Given the description of an element on the screen output the (x, y) to click on. 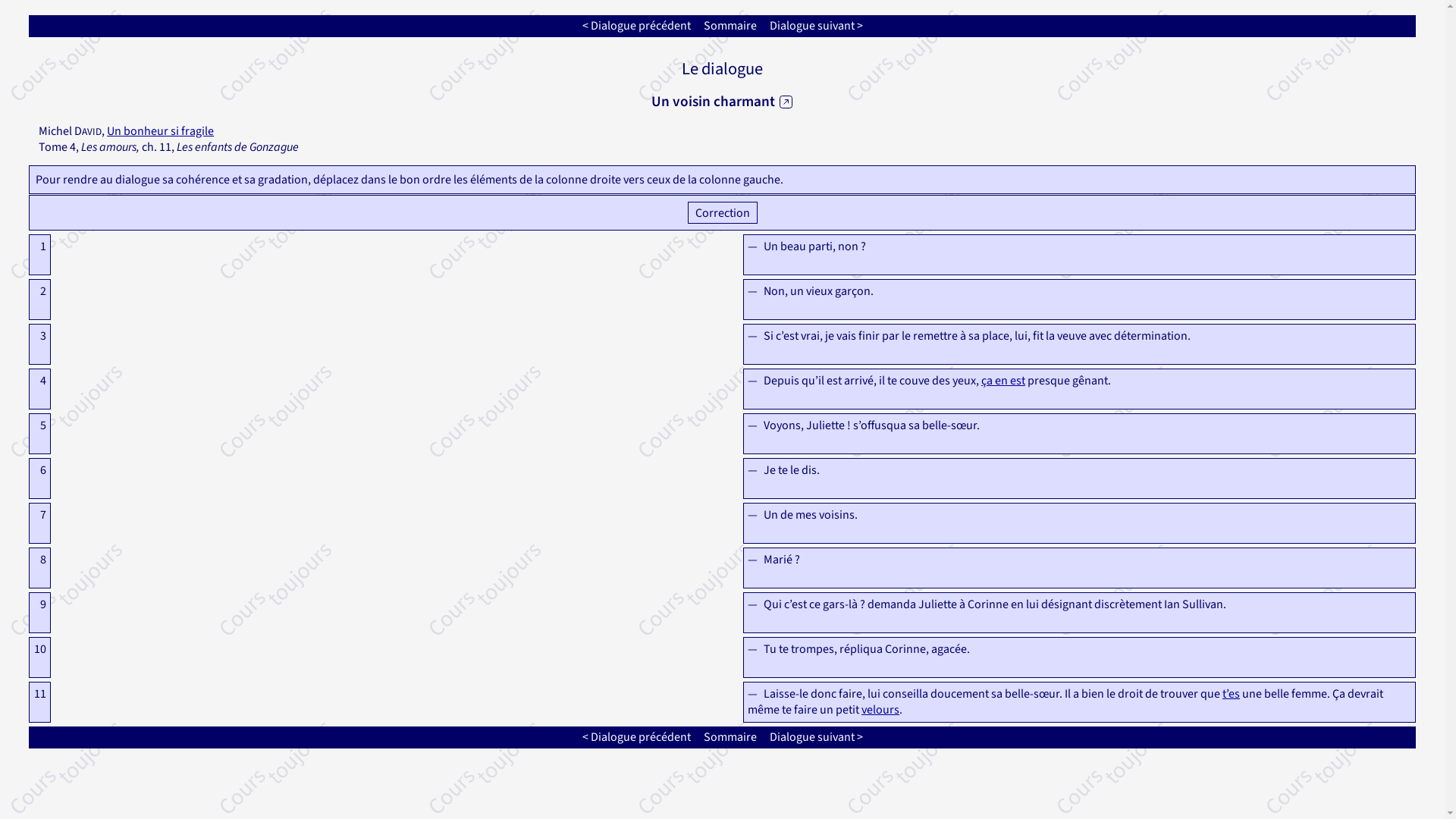
Dialogue suivant > Element type: text (816, 26)
Sommaire Element type: text (730, 737)
Dialogue suivant > Element type: text (816, 737)
 Correction  Element type: text (721, 212)
Un bonheur si fragile Element type: text (159, 130)
  Element type: text (785, 101)
velours Element type: text (880, 709)
Sommaire Element type: text (729, 26)
